Given the description of an element on the screen output the (x, y) to click on. 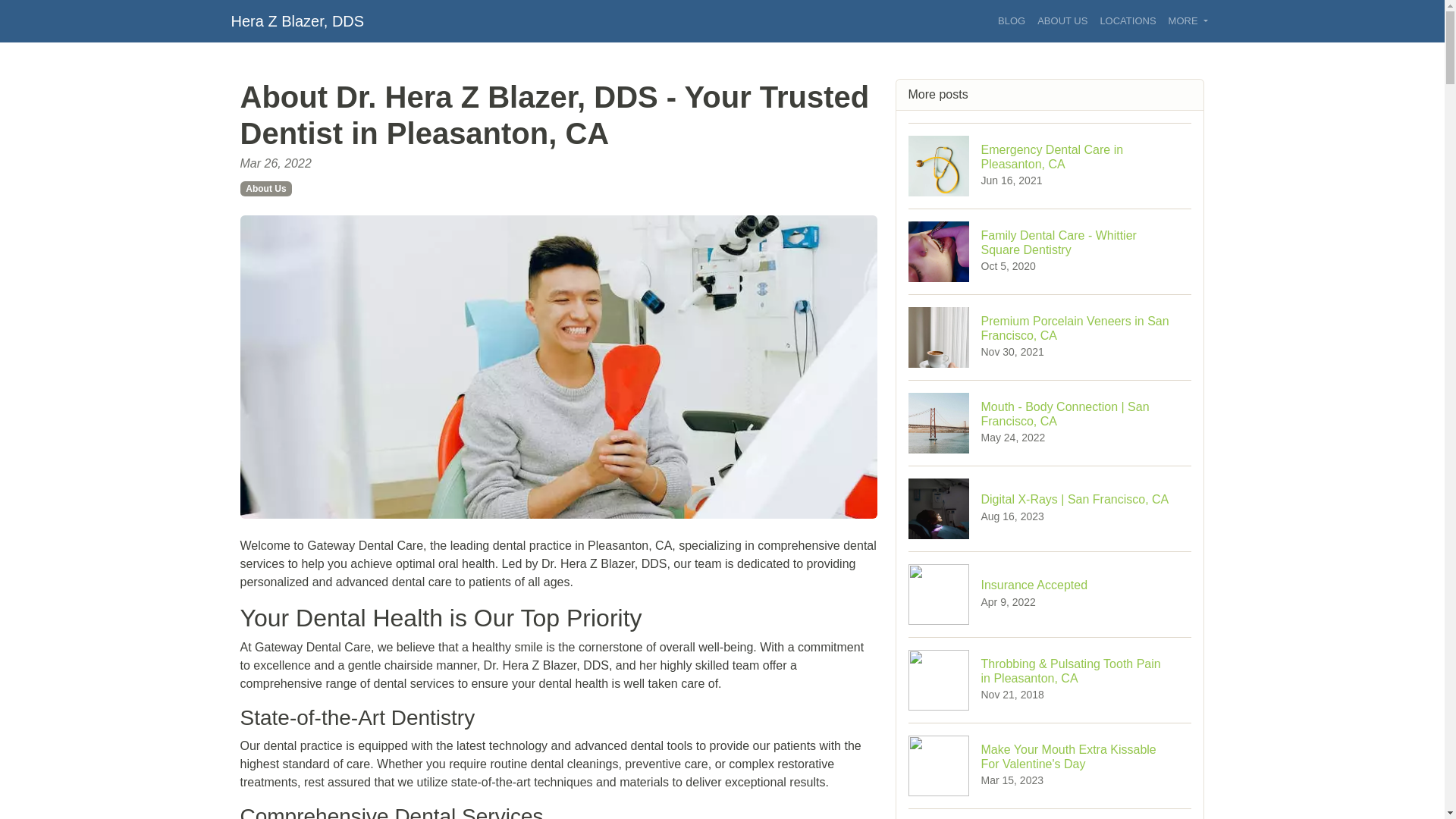
Hera Z Blazer, DDS (297, 20)
MORE (1050, 594)
BLOG (1187, 21)
LOCATIONS (1050, 337)
